Given the description of an element on the screen output the (x, y) to click on. 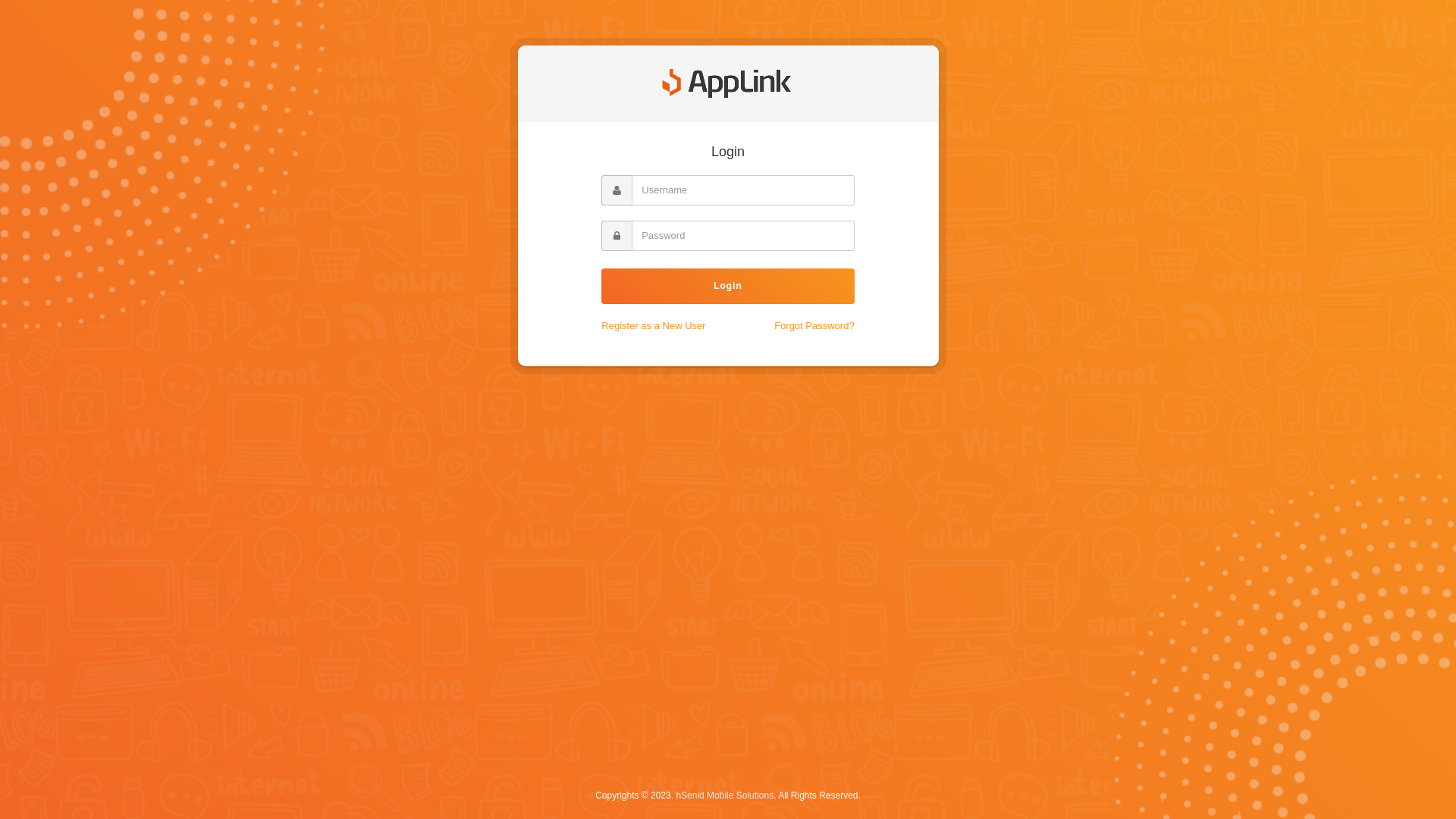
Register as a New User Element type: text (653, 325)
hSenid Mobile Solutions Element type: text (724, 795)
Forgot Password? Element type: text (814, 325)
Login Element type: text (727, 286)
